Given the description of an element on the screen output the (x, y) to click on. 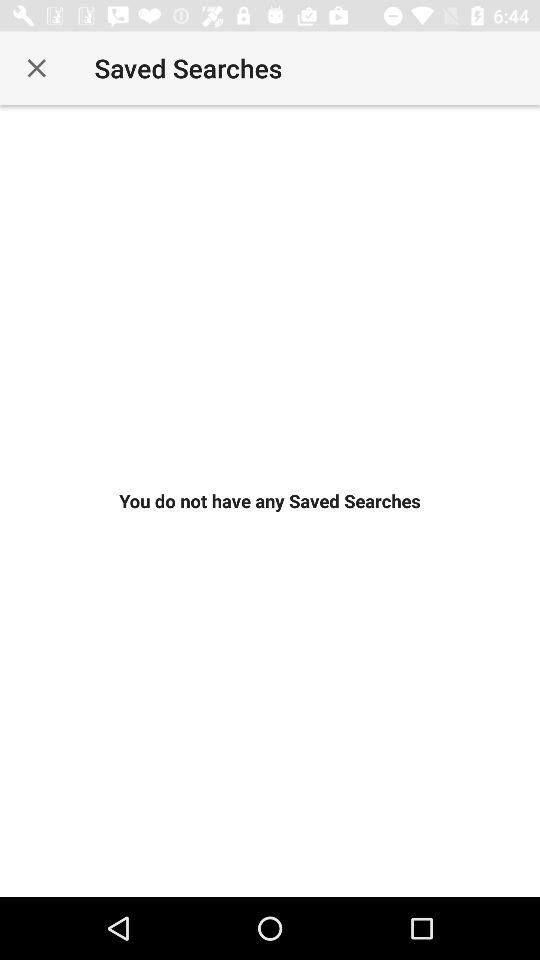
press icon at the top left corner (36, 68)
